Given the description of an element on the screen output the (x, y) to click on. 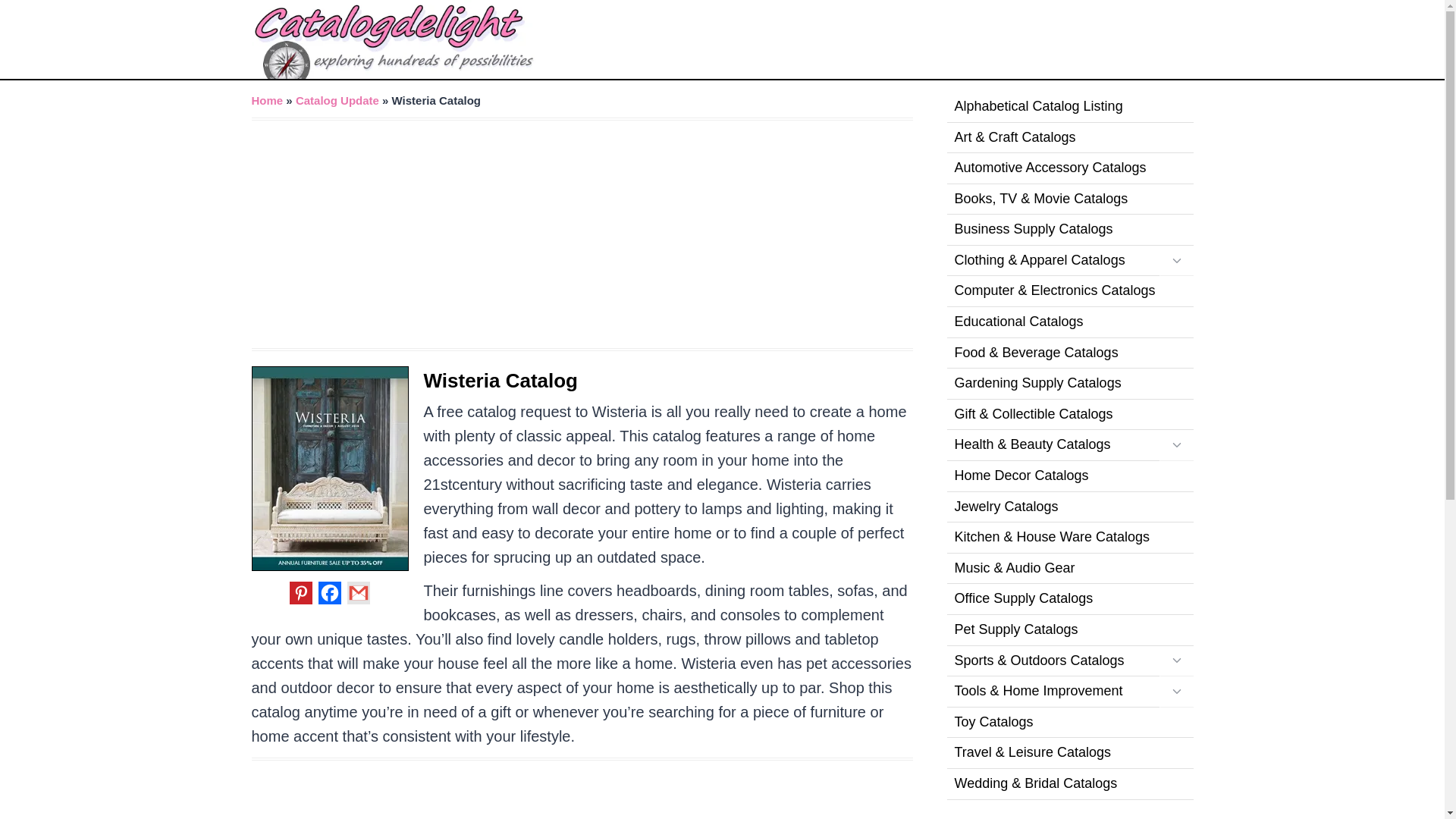
Office Supply Catalogs (1069, 599)
Home Decor Catalogs (1069, 476)
Pinterest (301, 592)
Facebook (329, 592)
Business Supply Catalogs (1069, 229)
Catalog Update (336, 100)
Automotive Accessory Catalogs (1069, 168)
Home (267, 100)
Wisteria Catalog (499, 380)
Toggle child menu (1175, 260)
Educational Catalogs (1069, 322)
Alphabetical Catalog Listing (1069, 106)
Jewelry Catalogs (1069, 507)
Advertisement (581, 795)
